Given the description of an element on the screen output the (x, y) to click on. 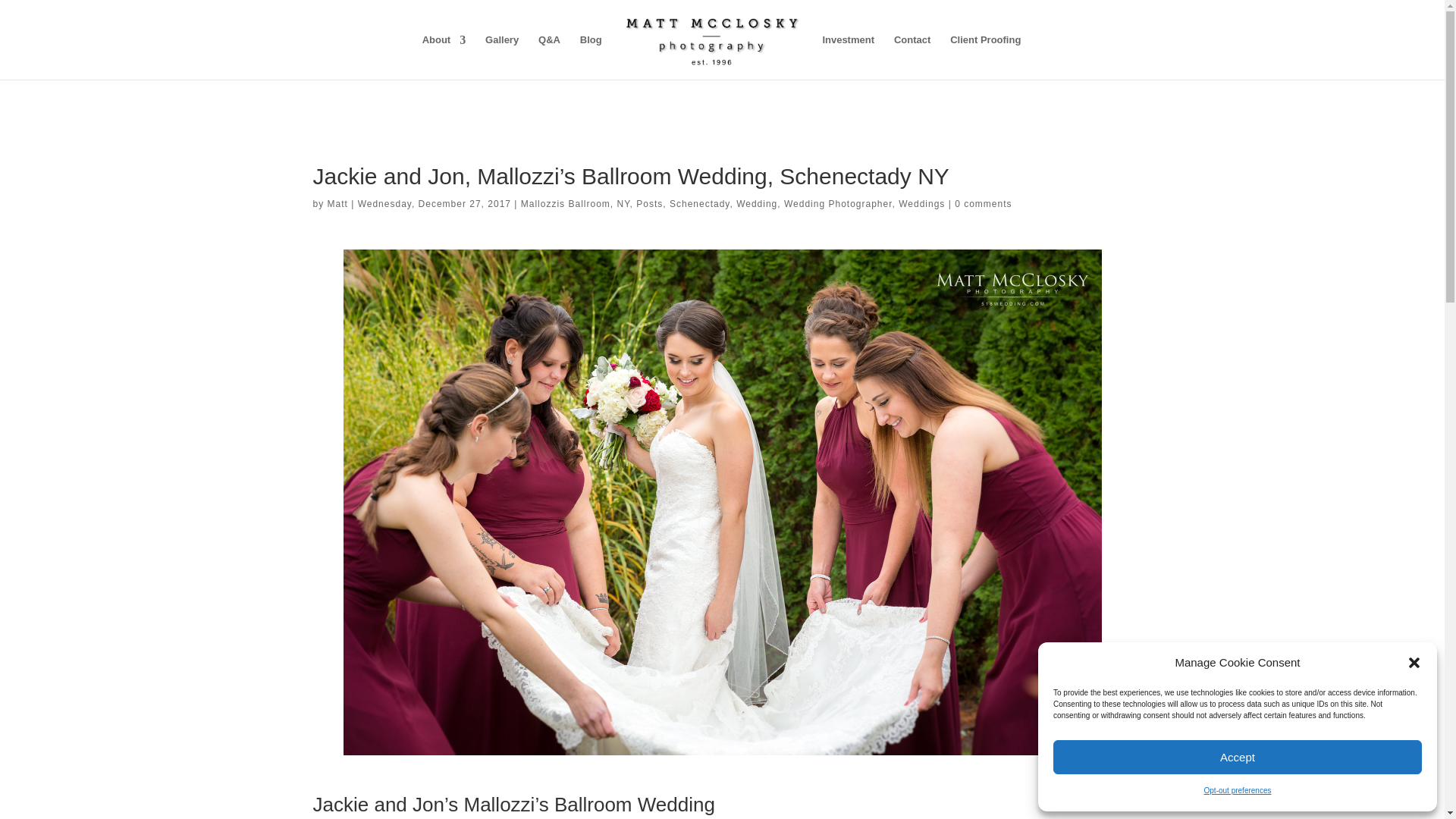
Posts by Matt (337, 204)
Schenectady (699, 204)
Opt-out preferences (1237, 791)
About (443, 57)
Matt (337, 204)
Posts (649, 204)
NY (621, 204)
Client Proofing (985, 57)
Wedding (756, 204)
Accept (1237, 756)
Mallozzis Ballroom (565, 204)
Wedding Photographer (838, 204)
Investment (848, 57)
